Given the description of an element on the screen output the (x, y) to click on. 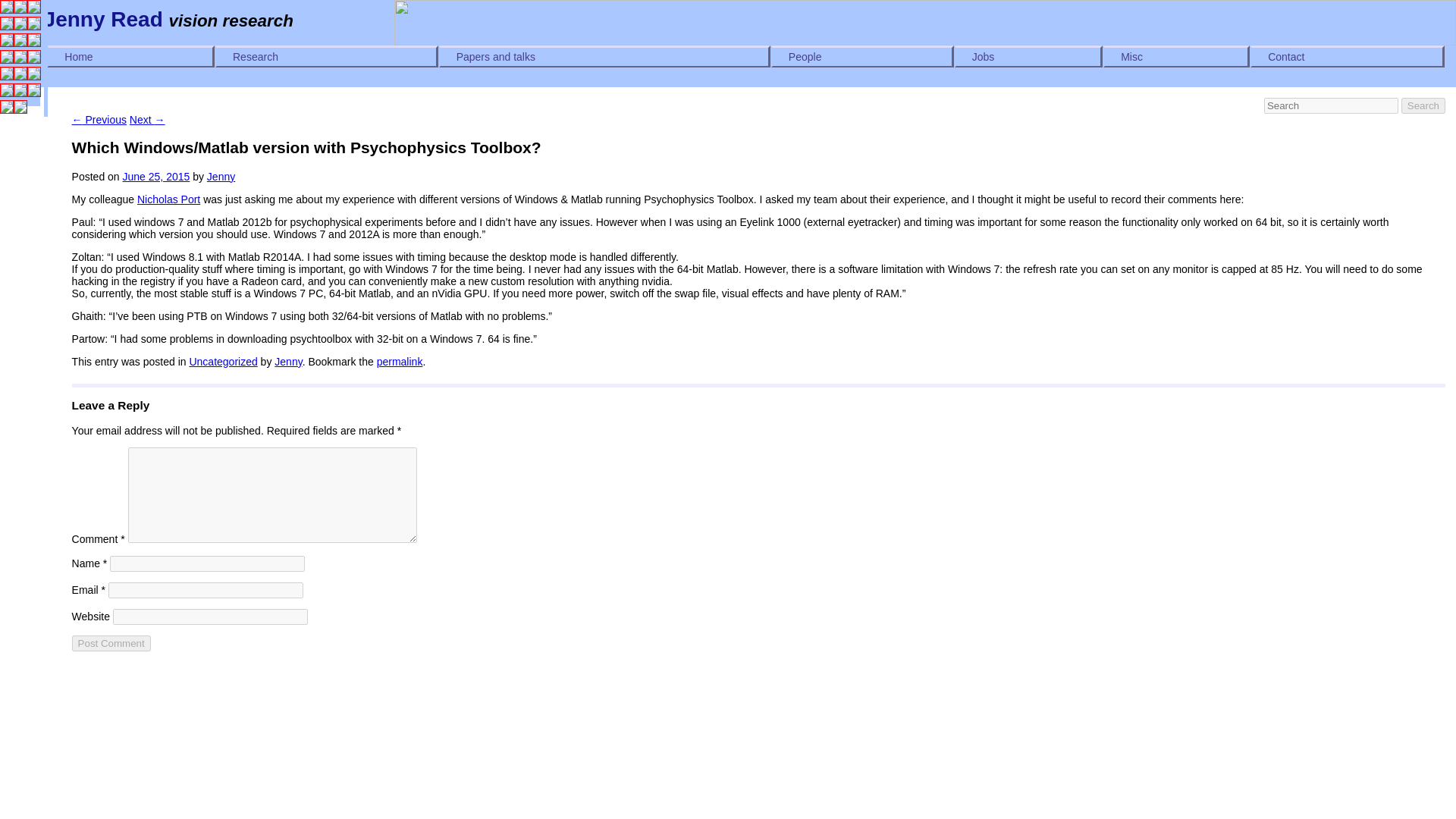
Search (1422, 105)
Skip to primary content (97, 51)
Jenny Read (103, 19)
1:19 pm (156, 176)
Jenny Read (103, 19)
Post Comment (111, 643)
Research (325, 56)
Skip to secondary content (104, 51)
Skip to secondary content (104, 51)
View all posts by Jenny (220, 176)
